Given the description of an element on the screen output the (x, y) to click on. 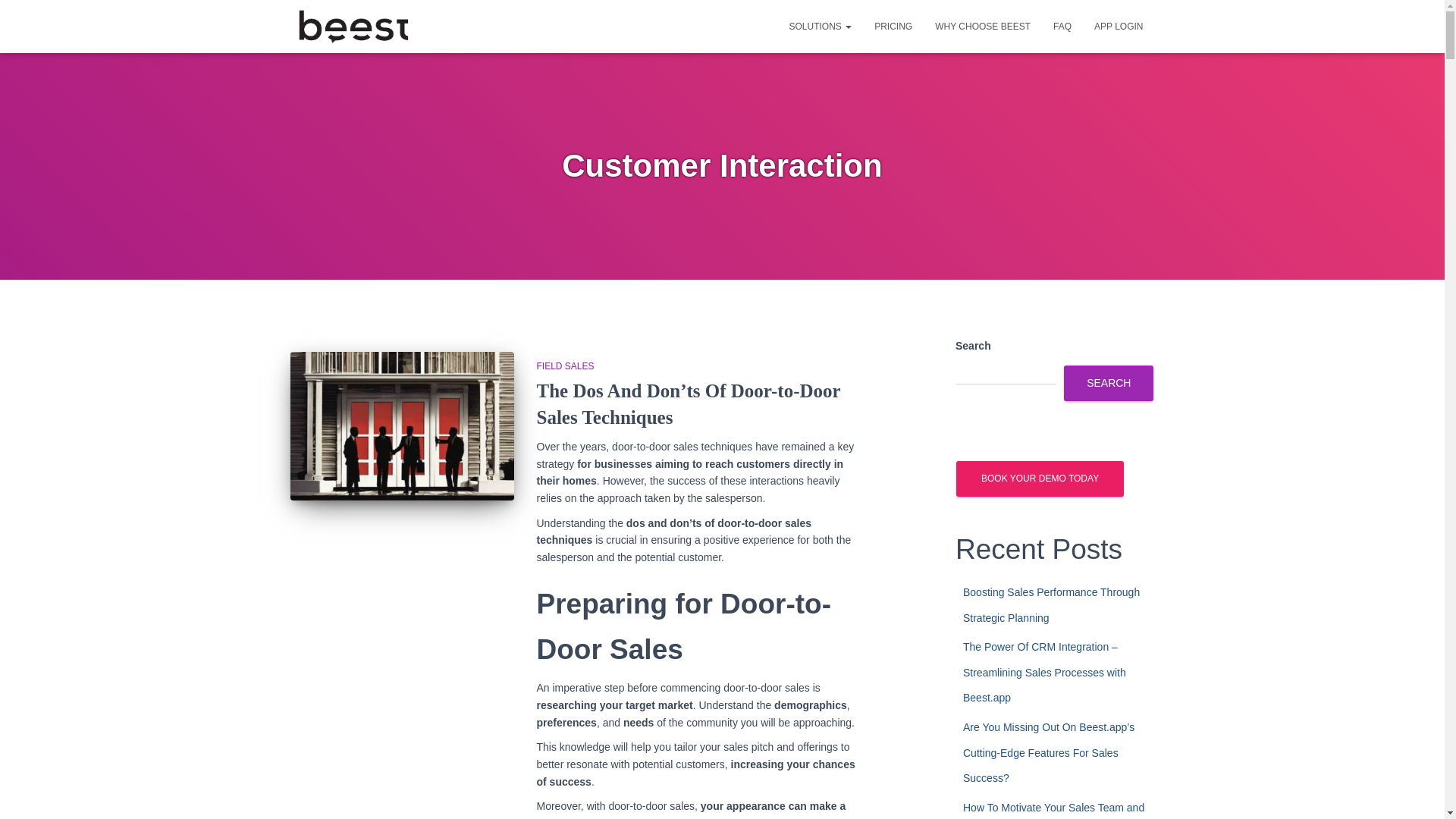
SOLUTIONS (820, 26)
Beest (353, 26)
Solutions (820, 26)
